Given the description of an element on the screen output the (x, y) to click on. 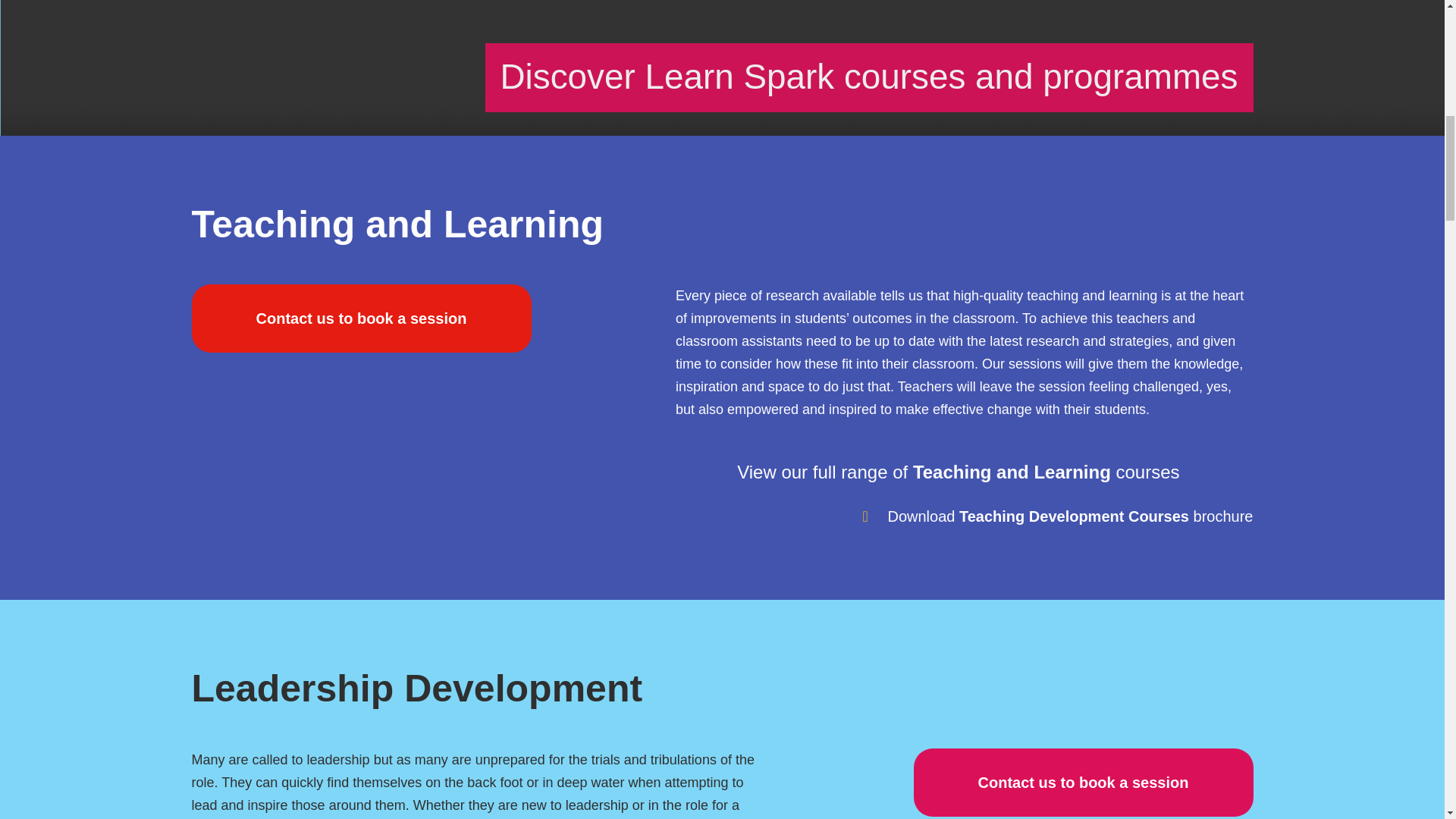
Download Teaching Development Courses brochure (1069, 515)
Book now (360, 318)
Book now (1082, 782)
Contact us to book a session (1082, 782)
View our full range of Teaching and Learning courses (981, 472)
Contact us to book a session (360, 318)
